Given the description of an element on the screen output the (x, y) to click on. 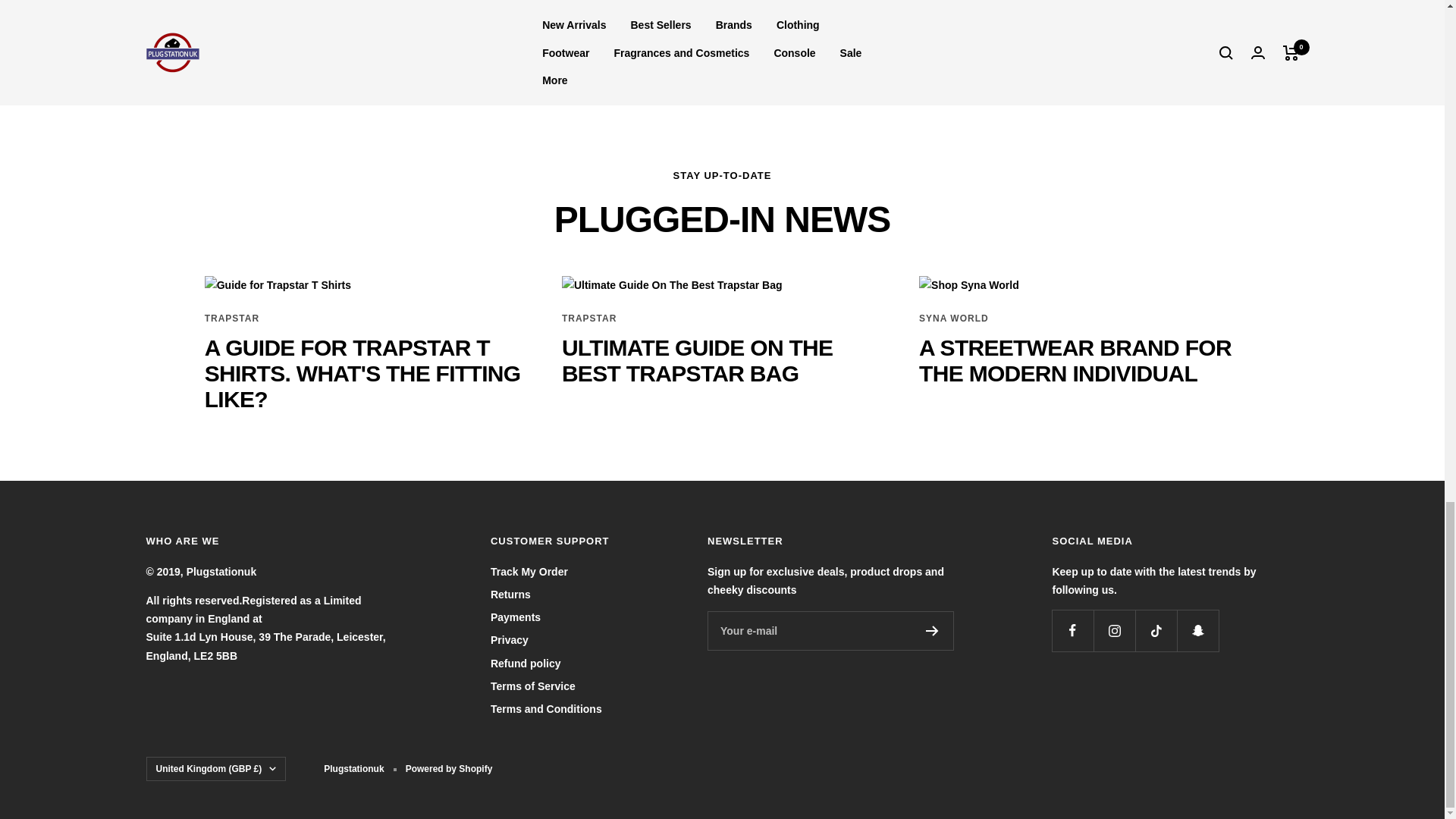
Register (721, 35)
